Given the description of an element on the screen output the (x, y) to click on. 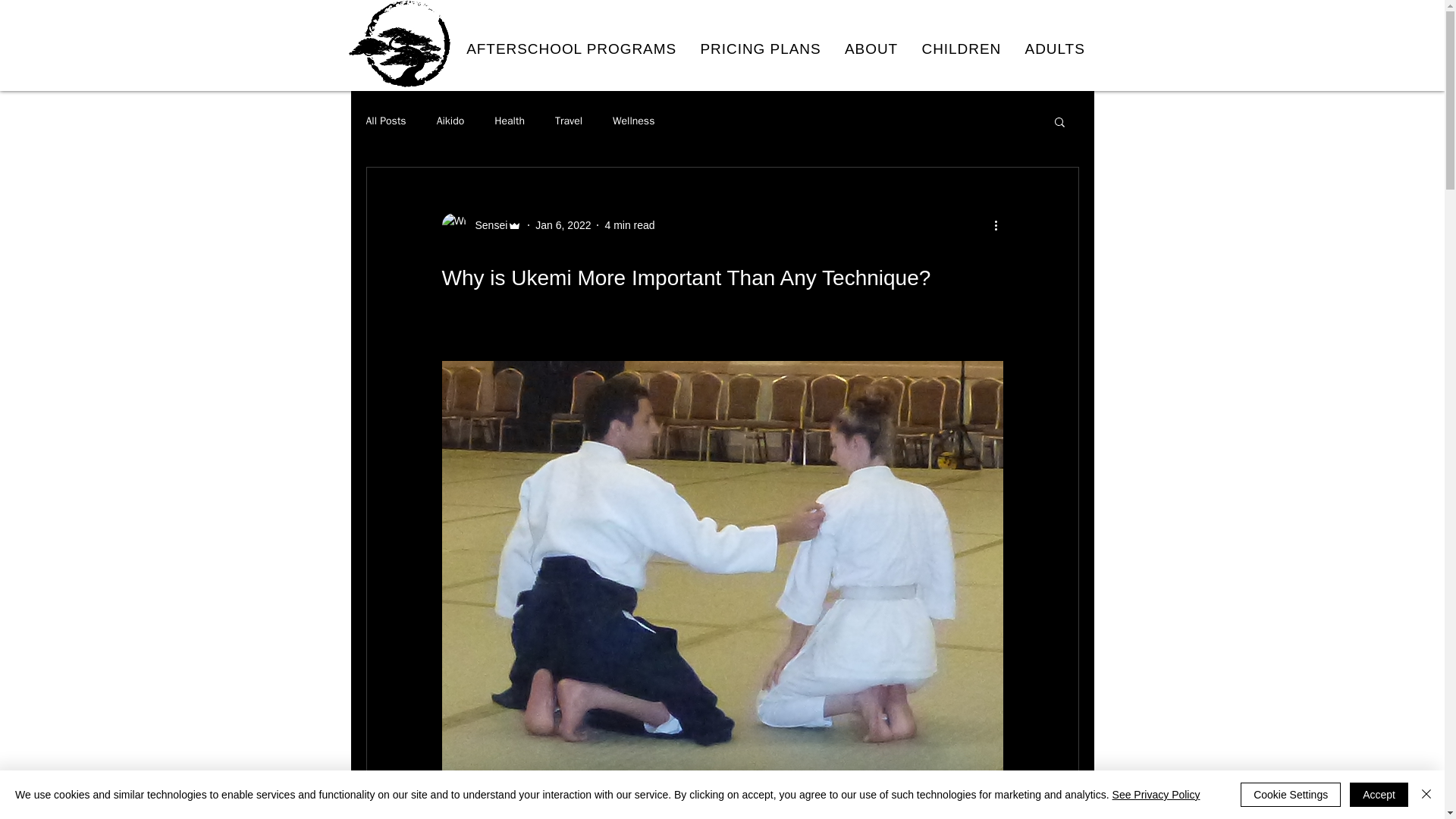
Sensei (481, 224)
All Posts (385, 120)
PRICING PLANS (760, 49)
CHILDREN (961, 49)
Jan 6, 2022 (563, 224)
Aikido (450, 120)
Wellness (632, 120)
Travel (568, 120)
AFTERSCHOOL PROGRAMS (571, 49)
Health (509, 120)
4 min read (628, 224)
ADULTS (1055, 49)
Sensei  (485, 224)
